Given the description of an element on the screen output the (x, y) to click on. 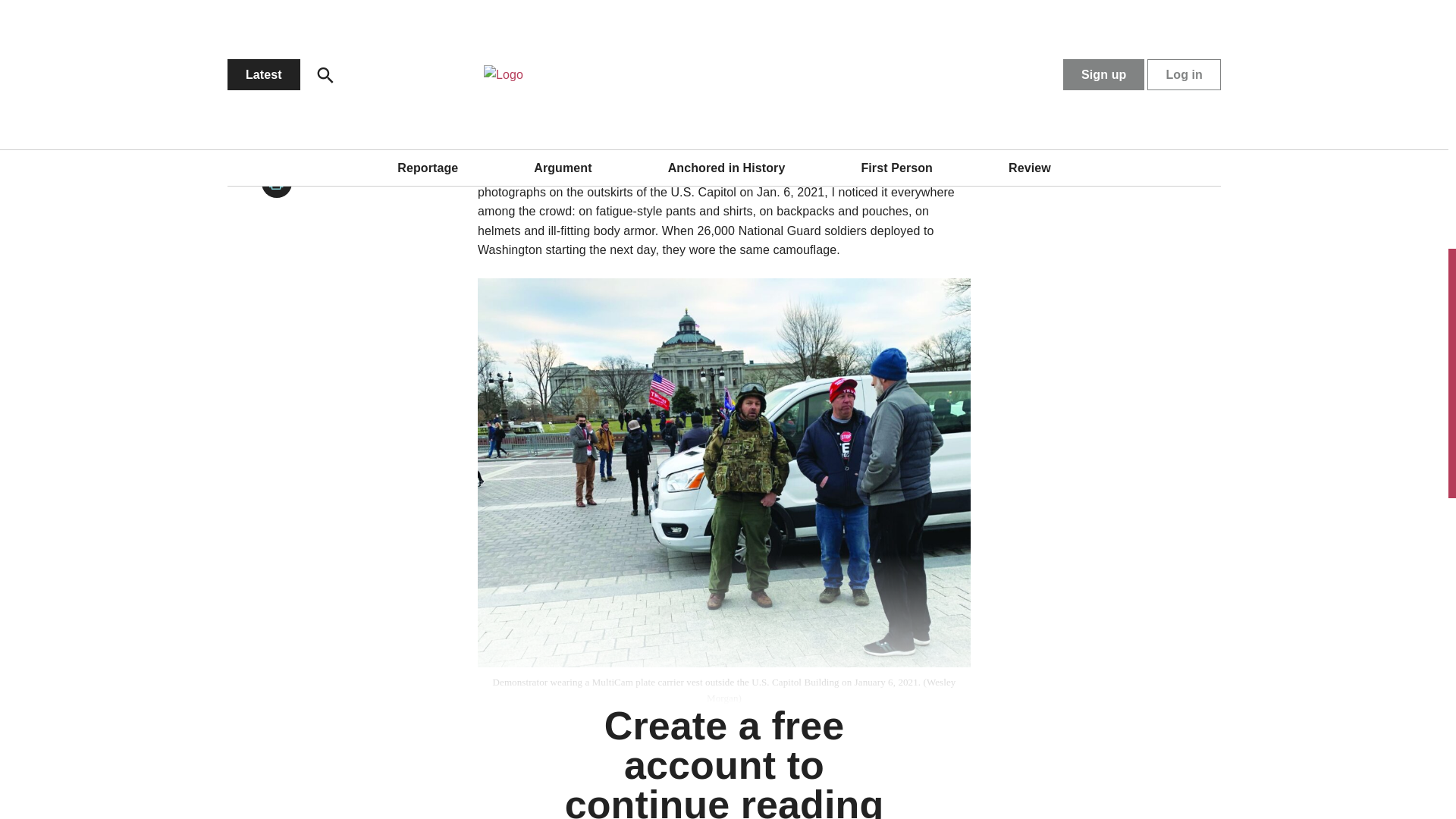
Share at LinkedIn (277, 15)
Tweet It (277, 57)
Print it (277, 182)
